Given the description of an element on the screen output the (x, y) to click on. 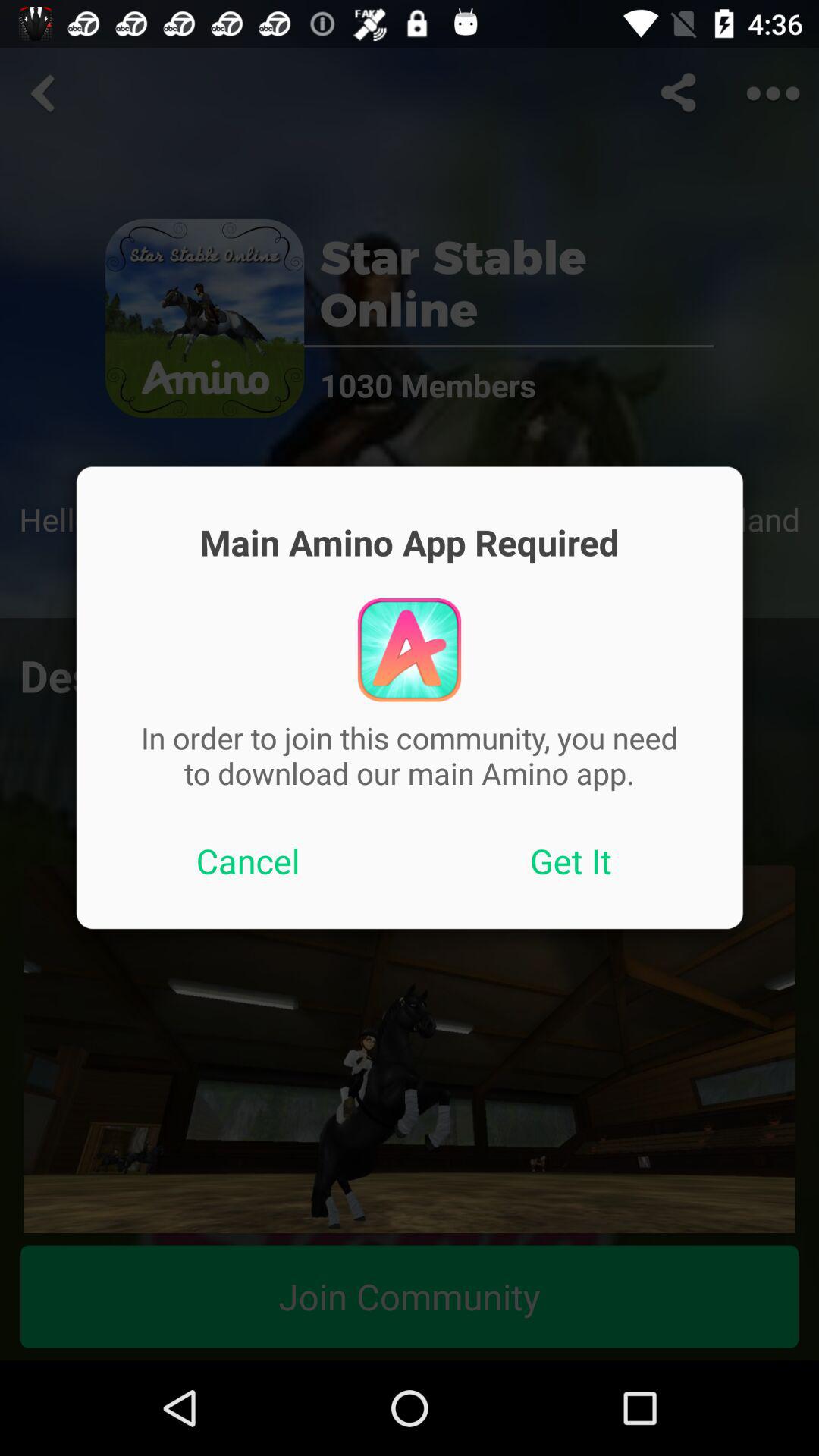
scroll until the get it icon (570, 860)
